Given the description of an element on the screen output the (x, y) to click on. 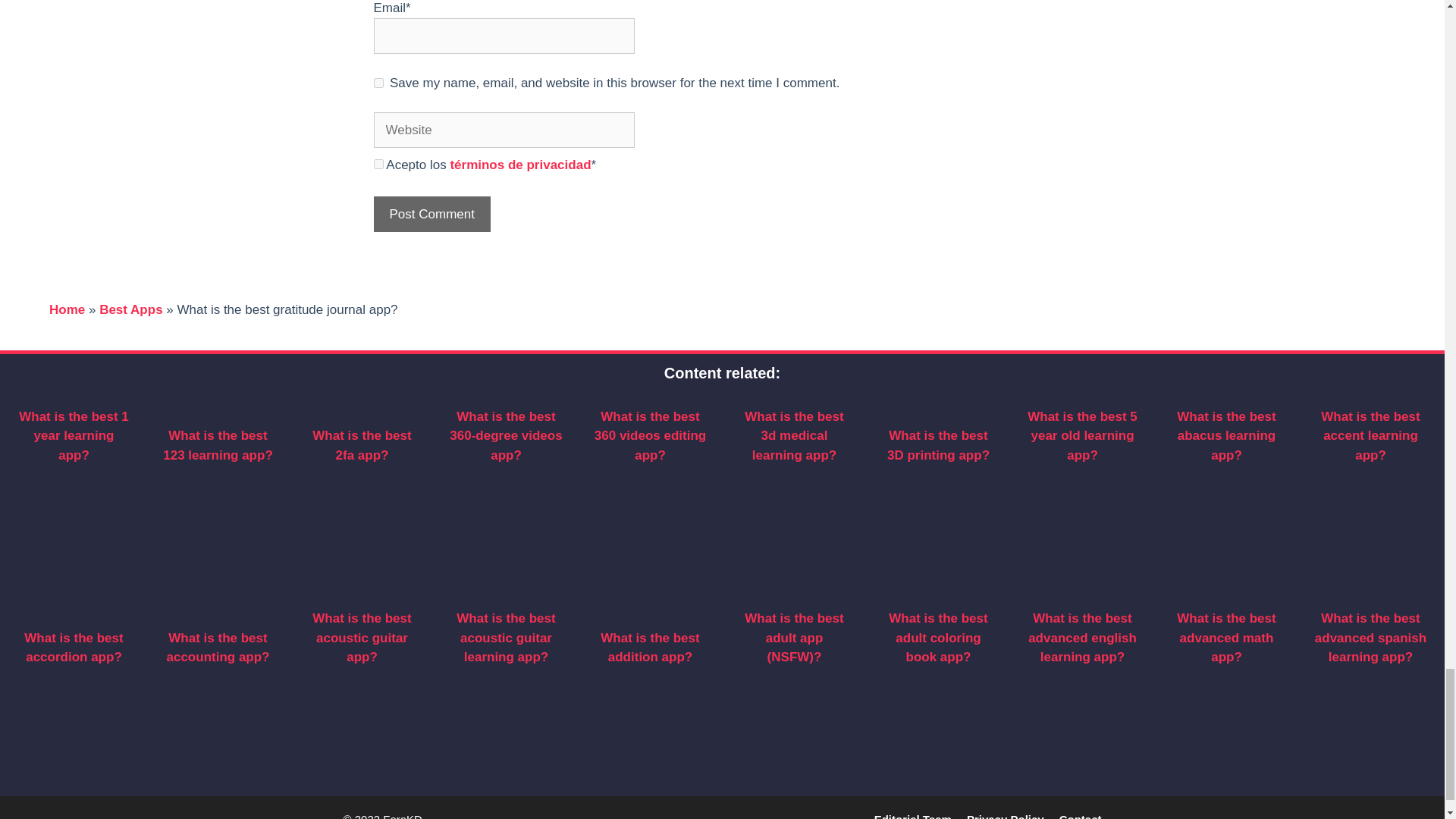
yes (377, 82)
Home (66, 309)
What is the best accent learning app? (1369, 435)
Post Comment (430, 213)
What is the best 1 year learning app? (73, 435)
What is the best abacus learning app? (1225, 435)
on (377, 163)
What is the best 3D printing app? (938, 445)
What is the best 123 learning app? (218, 445)
What is the best 360 videos editing app? (650, 435)
What is the best 3d medical learning app? (793, 435)
What is the best 2fa app? (361, 445)
Post Comment (430, 213)
What is the best accordion app? (73, 647)
What is the best 360-degree videos app? (505, 435)
